Given the description of an element on the screen output the (x, y) to click on. 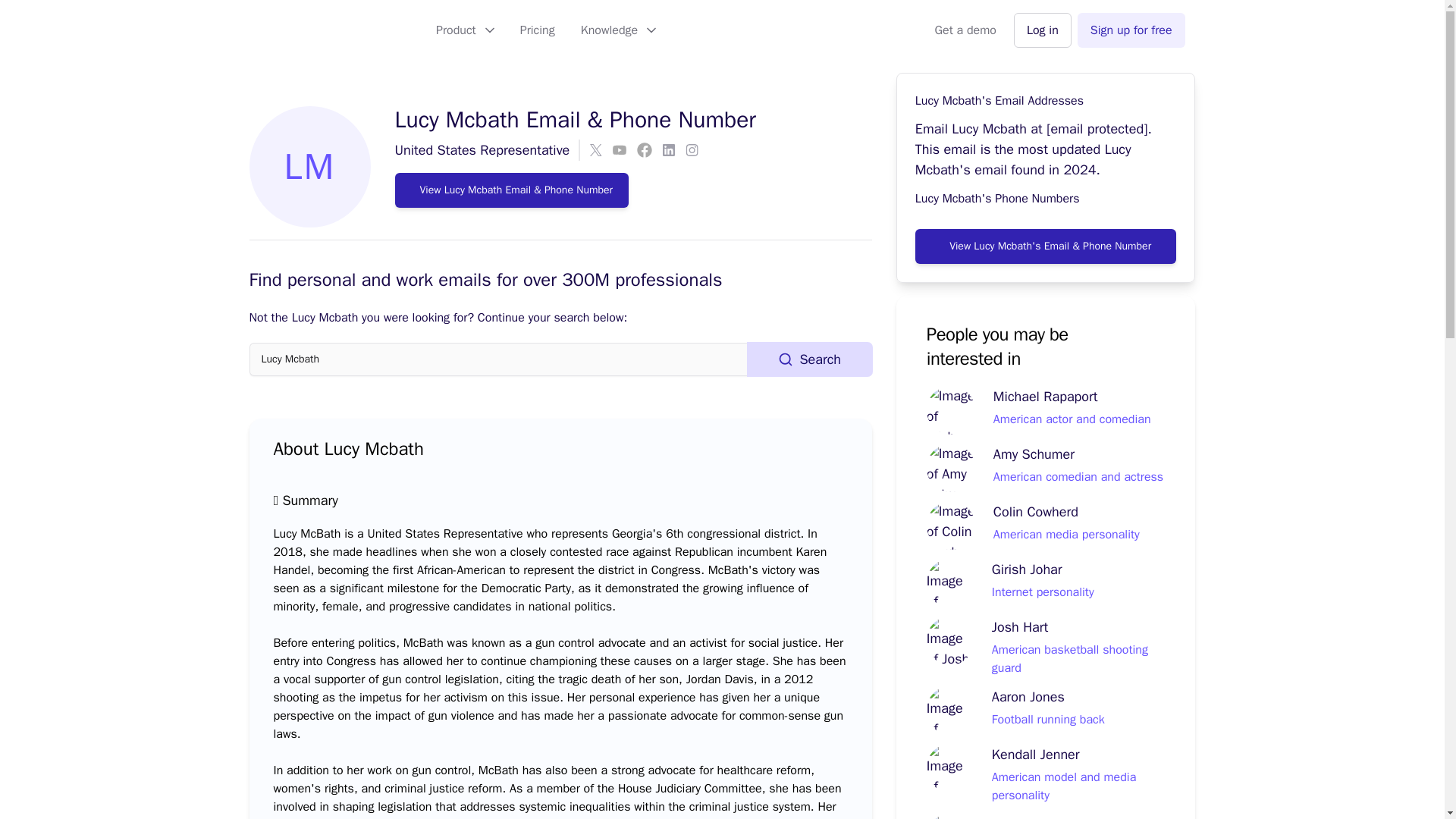
Product (464, 30)
Lucy Mcbath (497, 359)
Knowledge (617, 30)
Pricing (537, 30)
